Given the description of an element on the screen output the (x, y) to click on. 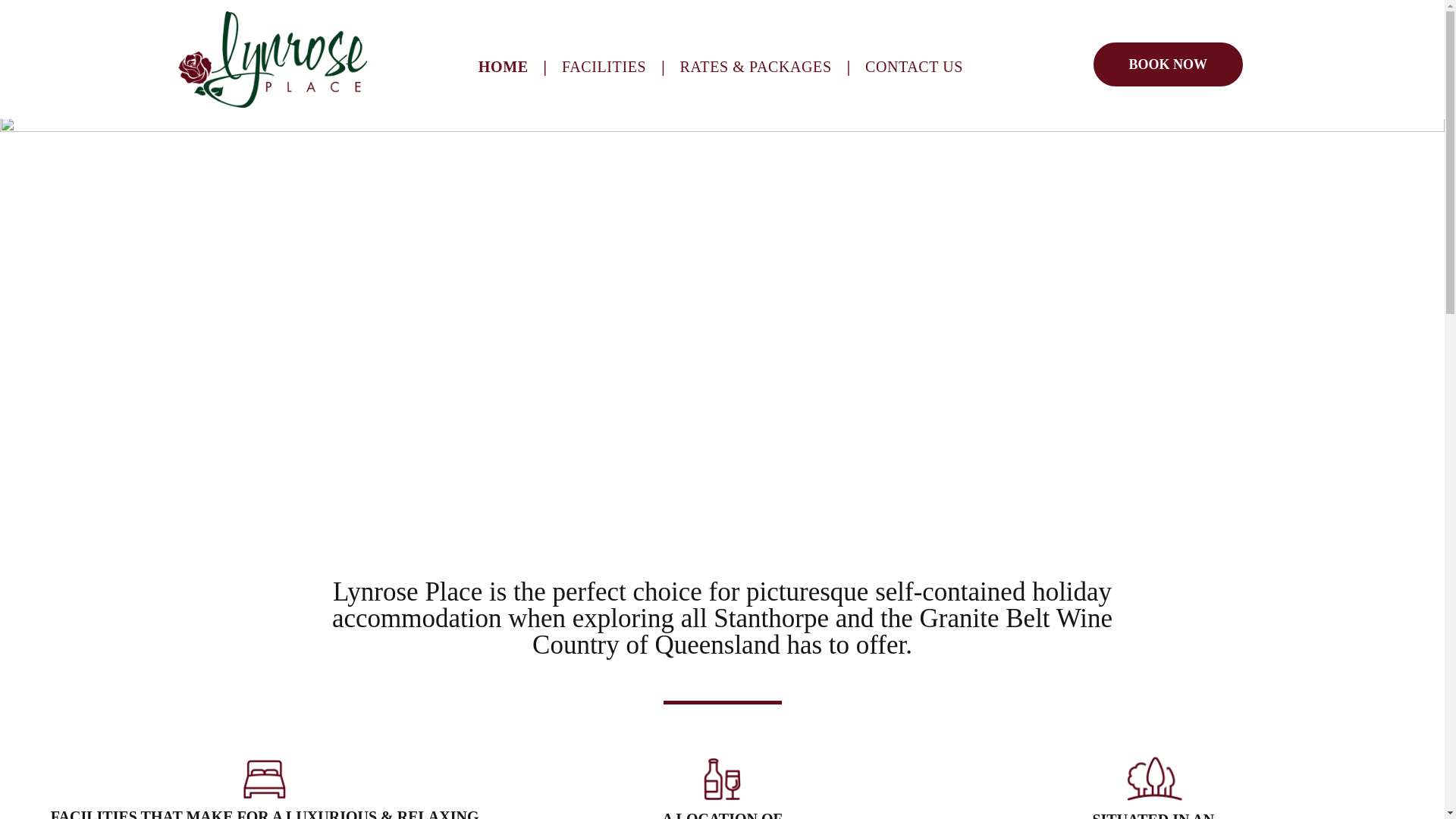
FACILITIES Element type: text (603, 66)
BOOK NOW Element type: text (1167, 64)
CONTACT US Element type: text (914, 66)
RATES & PACKAGES Element type: text (756, 66)
HOME Element type: text (503, 66)
